Given the description of an element on the screen output the (x, y) to click on. 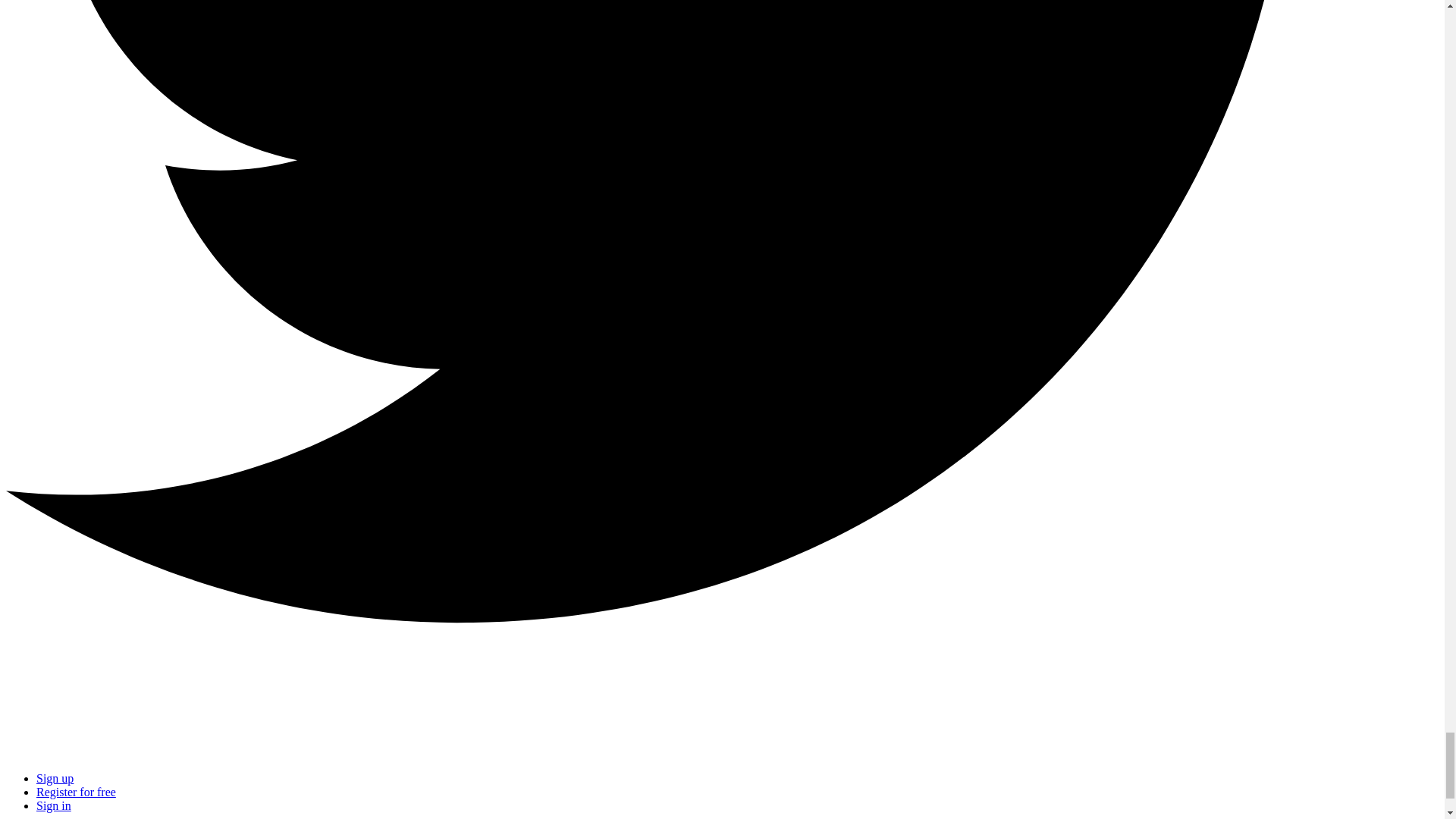
Sign up (55, 778)
Sign in (53, 805)
Register for free (76, 791)
